Given the description of an element on the screen output the (x, y) to click on. 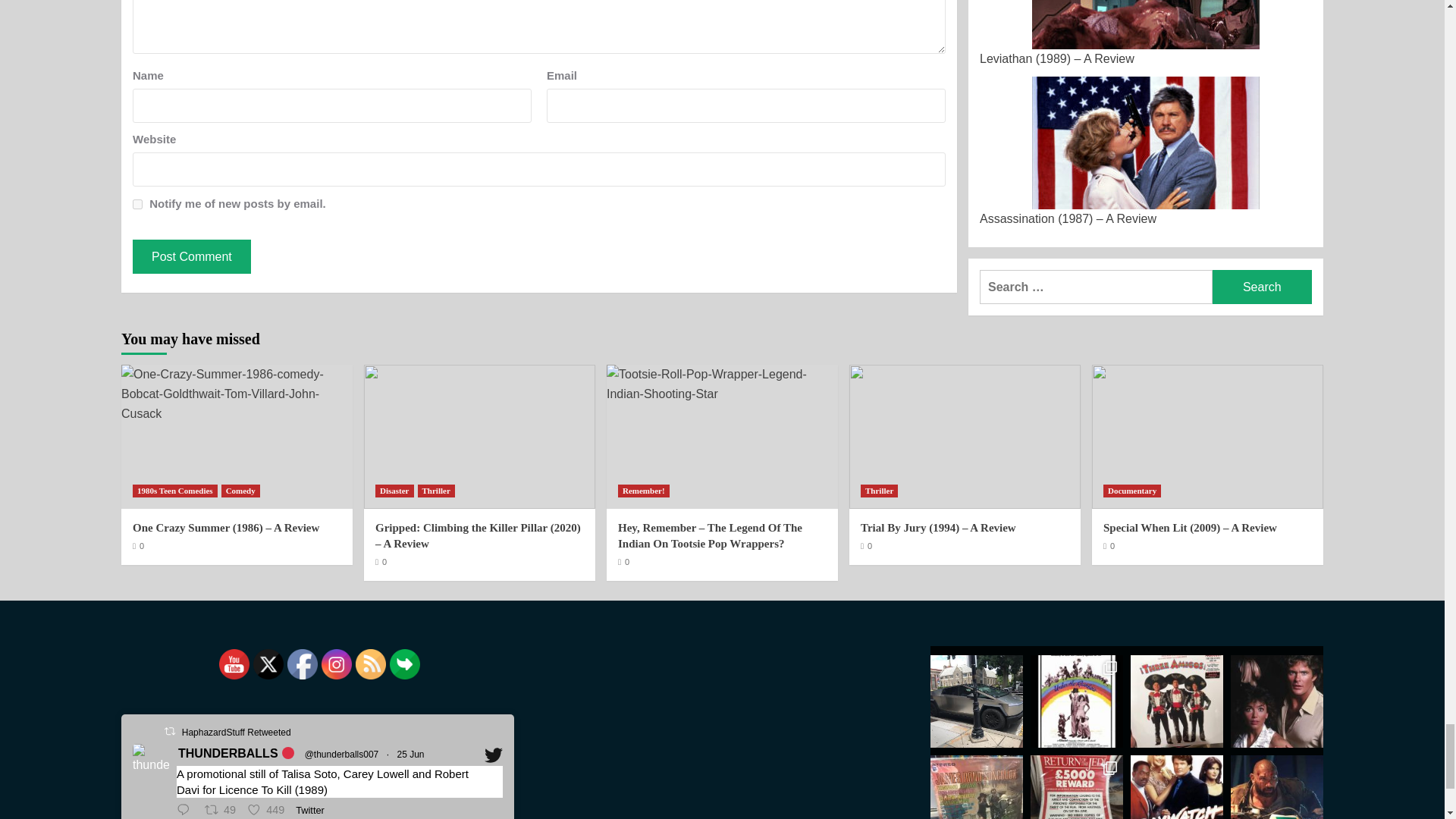
subscribe (137, 204)
Post Comment (191, 256)
